Given the description of an element on the screen output the (x, y) to click on. 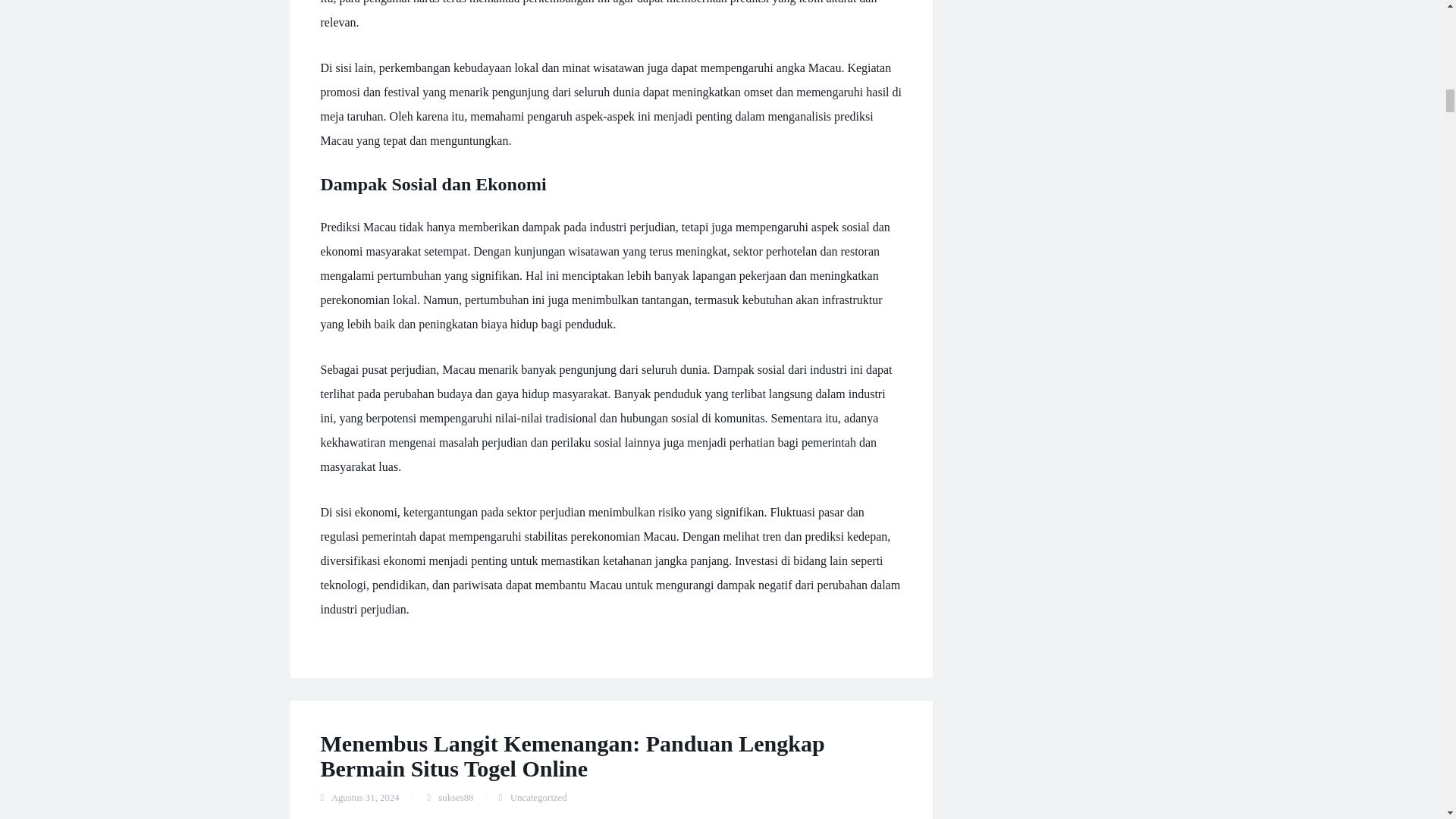
sukses88 (455, 797)
Uncategorized (539, 797)
Agustus 31, 2024 (364, 797)
